Given the description of an element on the screen output the (x, y) to click on. 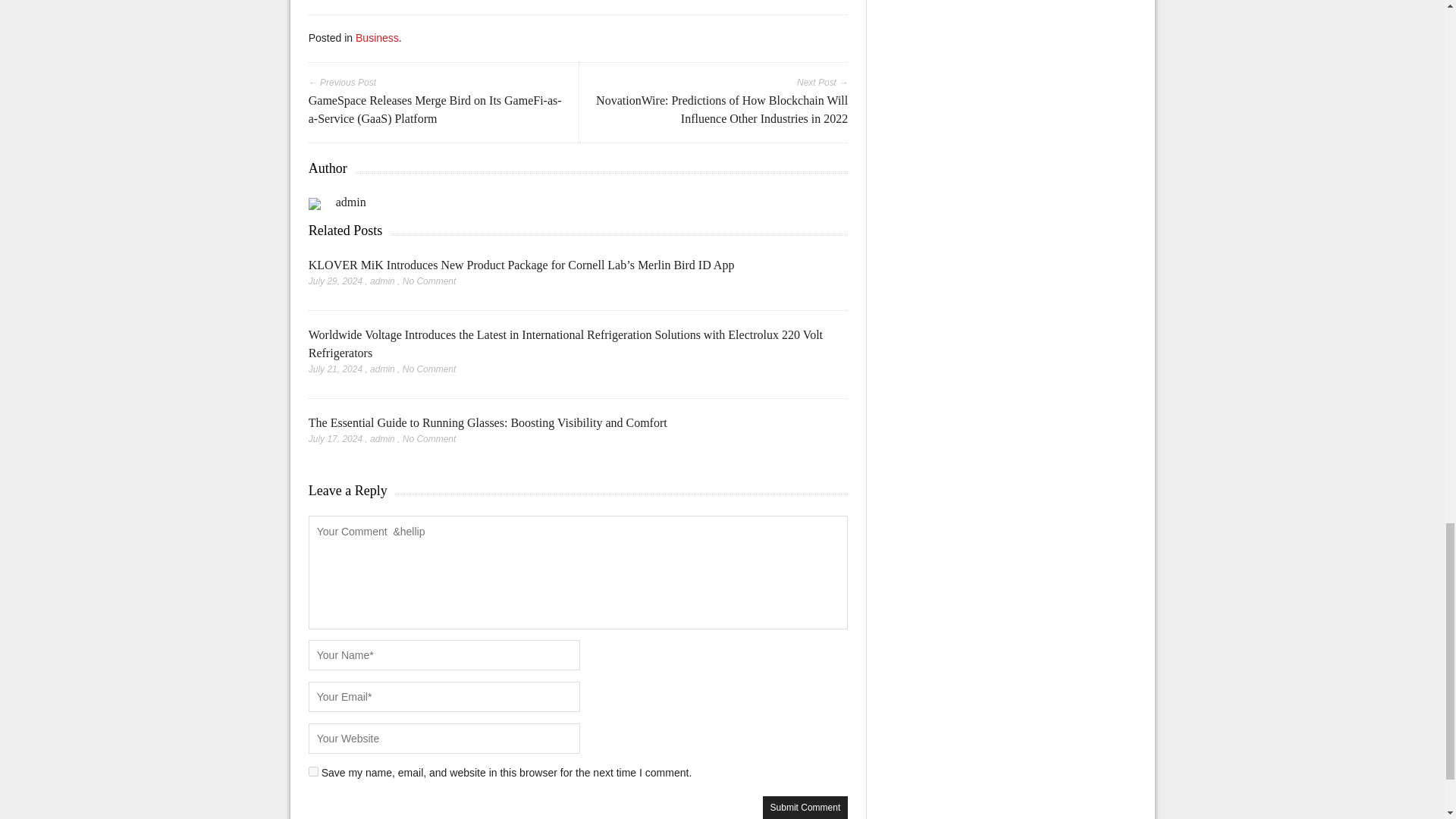
admin (381, 281)
Posts by admin (381, 439)
No Comment (430, 439)
Submit Comment (805, 807)
Posts by admin (381, 281)
Business (376, 37)
yes (313, 771)
Posts by admin (381, 368)
